Given the description of an element on the screen output the (x, y) to click on. 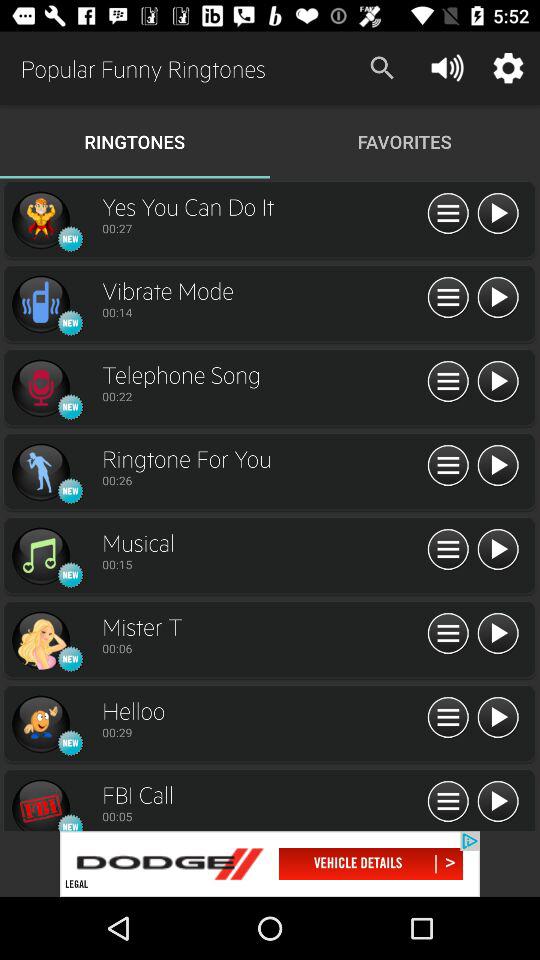
select the option (40, 220)
